Given the description of an element on the screen output the (x, y) to click on. 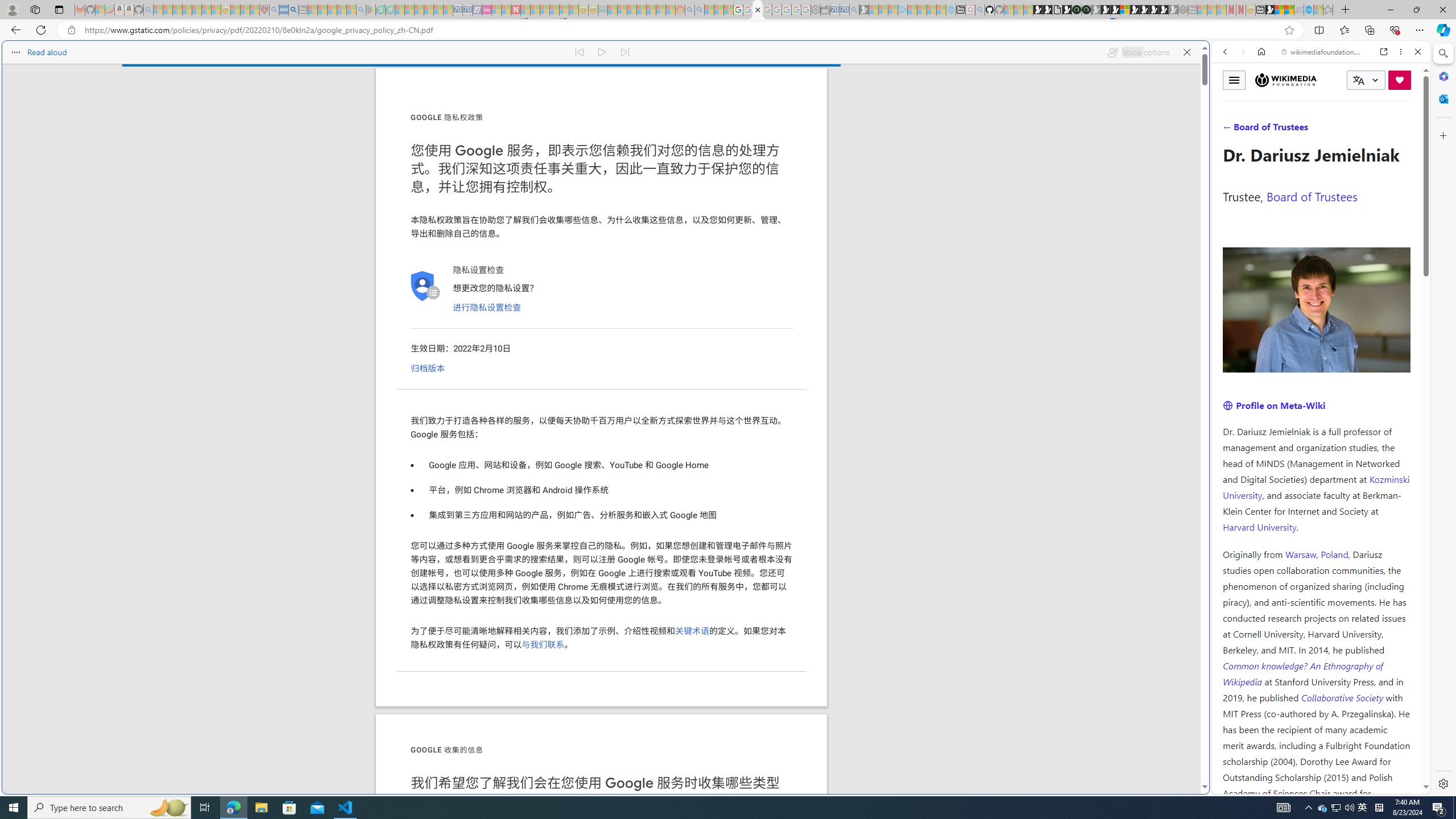
Common knowledge? An Ethnography of Wikipedia (1302, 672)
wikimediafoundation.org (1323, 51)
google - Search - Sleeping (360, 9)
Poland (1334, 554)
Earth has six continents not seven, radical new study claims (1288, 9)
